Given the description of an element on the screen output the (x, y) to click on. 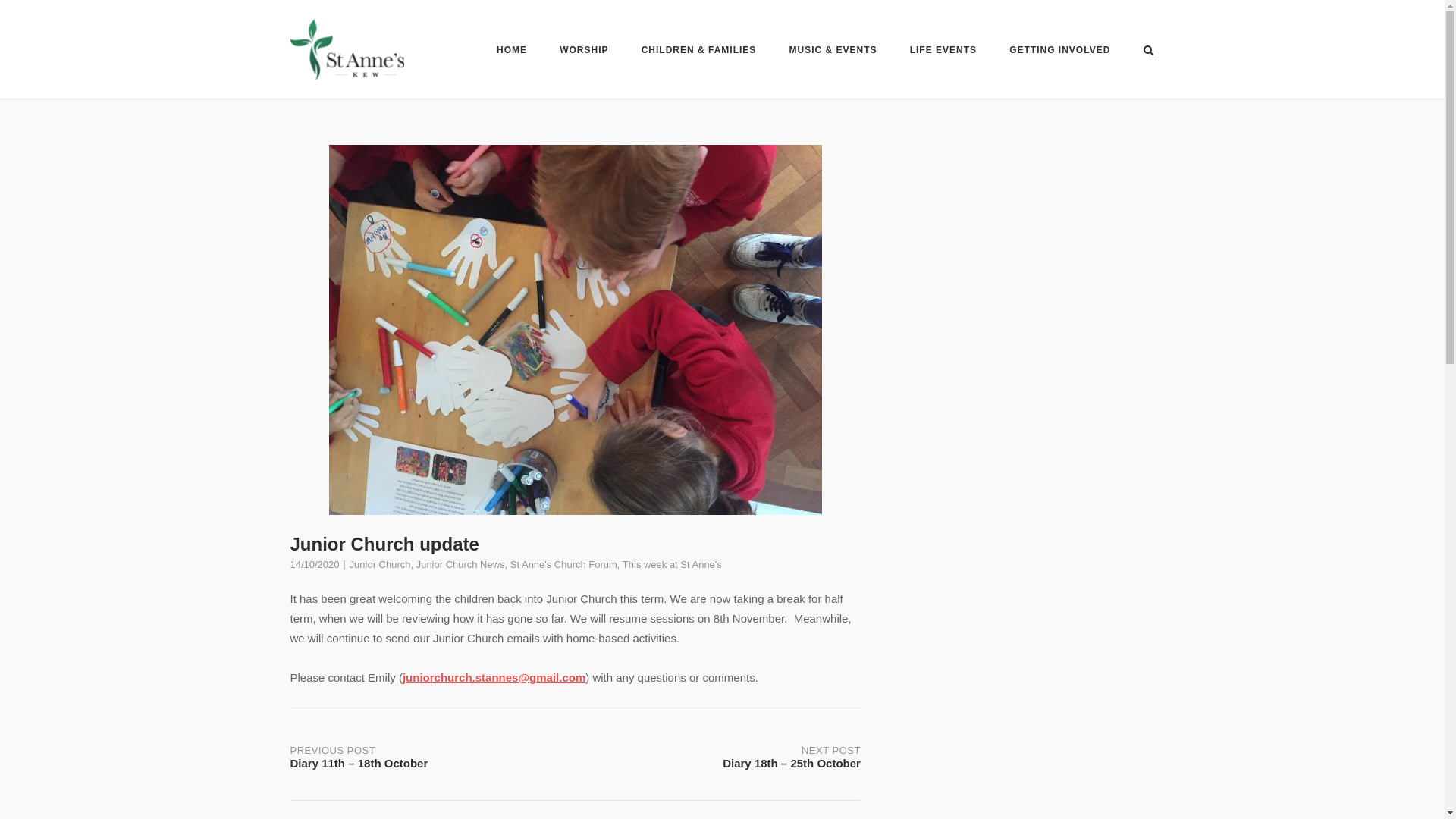
HOME (511, 51)
WORSHIP (583, 51)
